Given the description of an element on the screen output the (x, y) to click on. 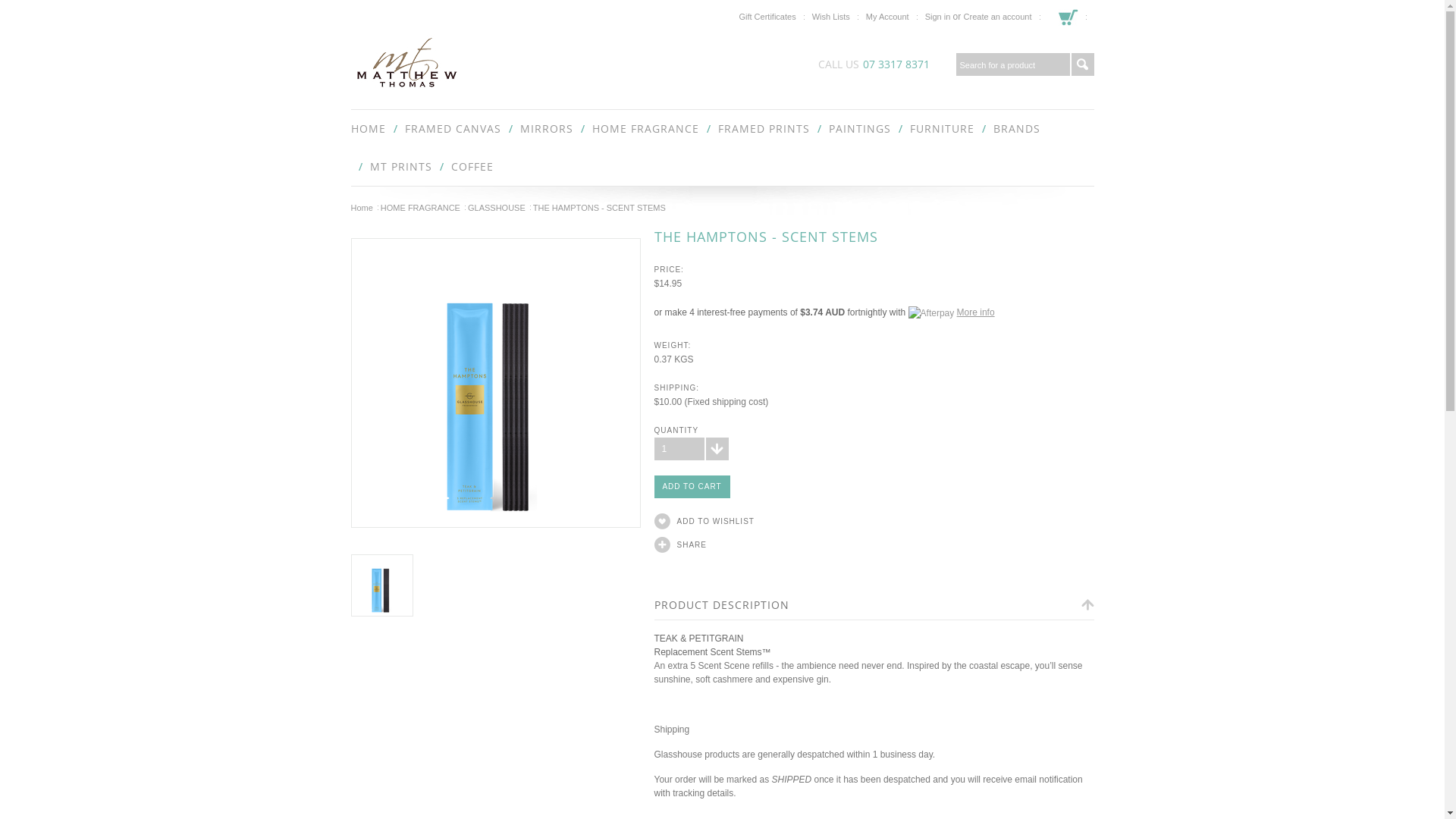
ADD TO WISHLIST Element type: text (884, 521)
Sign in Element type: text (937, 16)
MT PRINTS Element type: text (401, 166)
Gift Certificates Element type: text (766, 16)
FRAMED PRINTS Element type: text (763, 128)
0 Element type: text (381, 585)
My Account Element type: text (887, 16)
Image 1 Element type: hover (495, 382)
More info Element type: text (951, 312)
COFFEE Element type: text (471, 166)
Image 1 Element type: hover (381, 585)
BRANDS Element type: text (1016, 128)
Create an account Element type: text (997, 16)
PAINTINGS Element type: text (859, 128)
Add to Cart Element type: text (691, 486)
Home Element type: text (363, 207)
FRAMED CANVAS Element type: text (452, 128)
GLASSHOUSE Element type: text (498, 207)
HOME FRAGRANCE Element type: text (422, 207)
HOME Element type: text (367, 128)
FURNITURE Element type: text (942, 128)
MIRRORS Element type: text (546, 128)
Wish Lists Element type: text (831, 16)
undefined Element type: hover (495, 382)
HOME FRAGRANCE Element type: text (644, 128)
GO Element type: text (1081, 64)
